Given the description of an element on the screen output the (x, y) to click on. 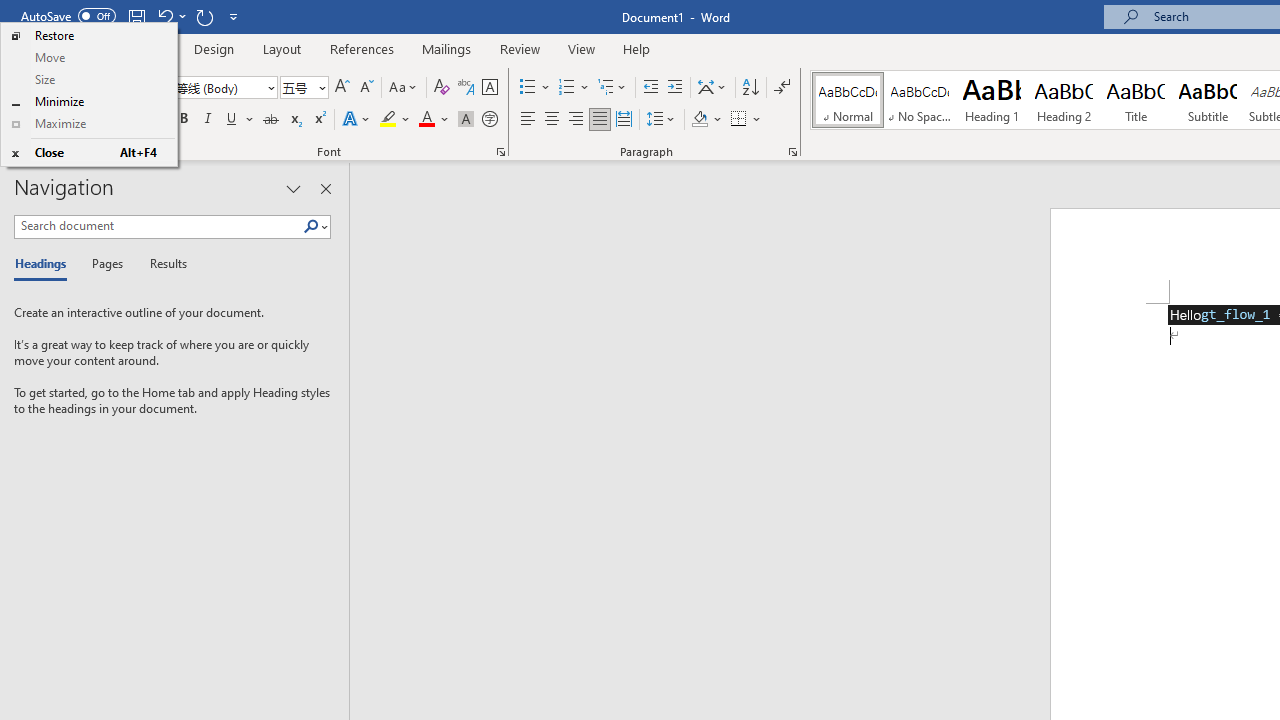
Subtitle (1208, 100)
Undo Paste (164, 15)
